Given the description of an element on the screen output the (x, y) to click on. 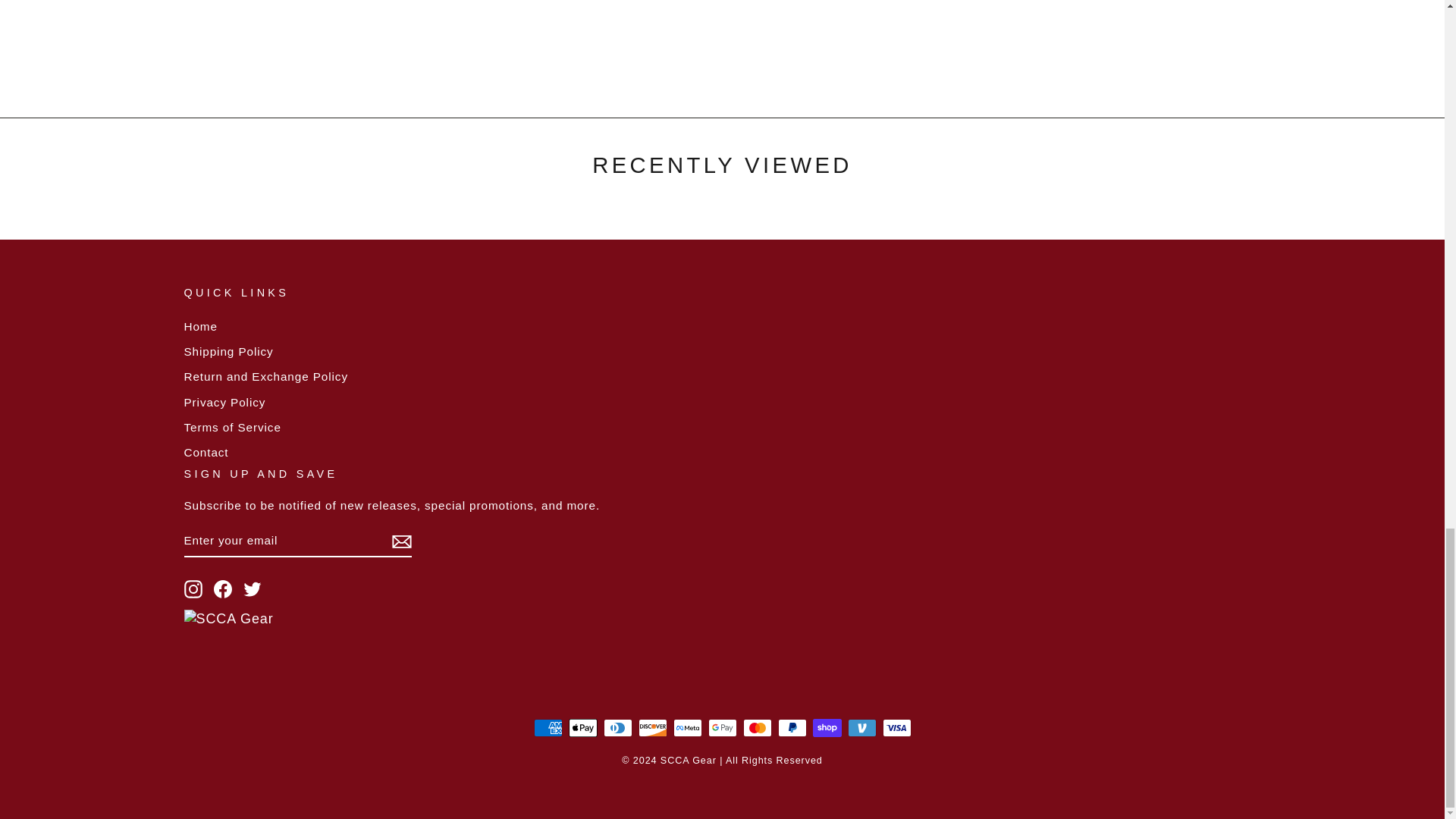
SCCA Gear on Twitter (251, 588)
SCCA Gear on Instagram (192, 588)
Meta Pay (686, 728)
Diners Club (617, 728)
Discover (652, 728)
American Express (548, 728)
SCCA Gear on Facebook (222, 588)
Apple Pay (582, 728)
